Given the description of an element on the screen output the (x, y) to click on. 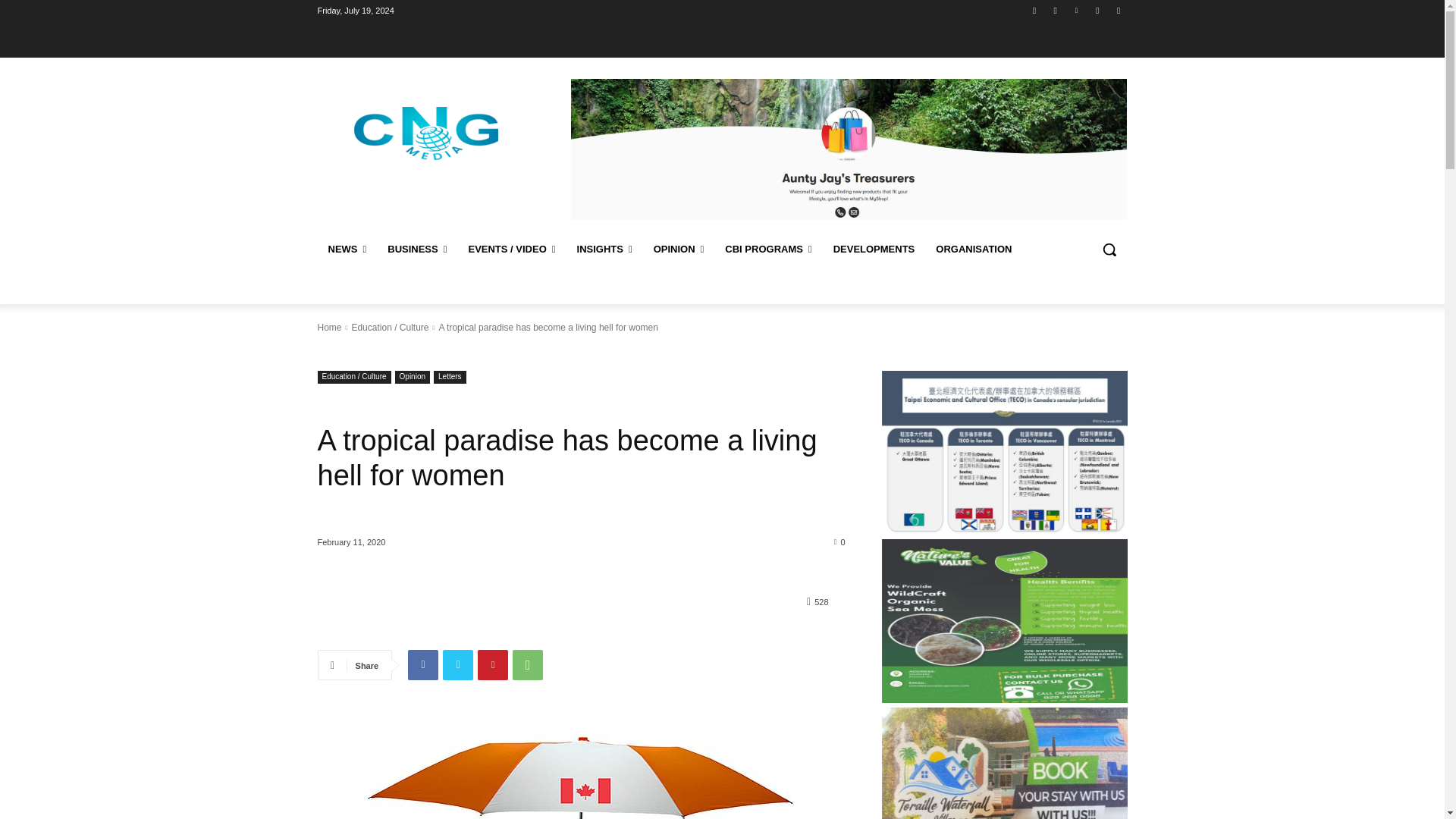
NEWS (347, 248)
Twitter (1097, 9)
Facebook (1034, 9)
Instagram (1055, 9)
Youtube (1117, 9)
Linkedin (1075, 9)
